Given the description of an element on the screen output the (x, y) to click on. 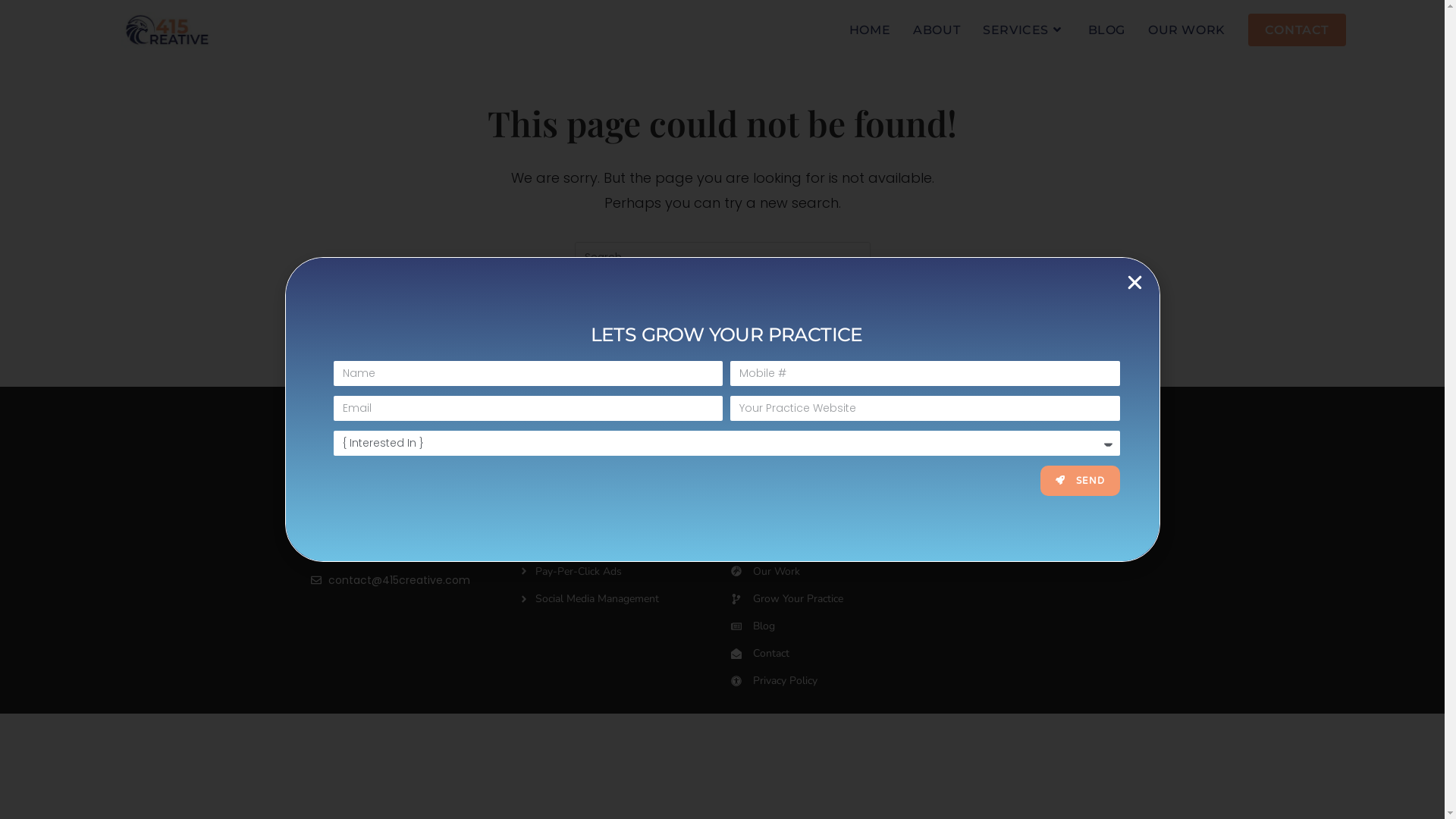
Grow Your Practice Element type: text (835, 598)
contact@415creative.com Element type: text (389, 580)
ABOUT Element type: text (936, 30)
Social Media Management Element type: text (624, 598)
Online Reputation Management Element type: text (624, 543)
OUR WORK Element type: text (1186, 30)
Contact Element type: text (835, 652)
Privacy Policy Element type: text (835, 680)
Pay-Per-Click Ads Element type: text (624, 570)
Our Work Element type: text (835, 570)
SERVICES Element type: text (1023, 30)
Web Design & Development Element type: text (624, 488)
HOME Element type: text (869, 30)
Services Element type: text (835, 543)
Search Engine Optimization Element type: text (624, 515)
BACK TO HOMEPAGE Element type: text (722, 332)
Blog Element type: text (835, 625)
About Element type: text (835, 515)
SEND Element type: text (1080, 480)
BLOG Element type: text (1106, 30)
Home Element type: text (835, 488)
CONTACT Element type: text (1296, 30)
